Given the description of an element on the screen output the (x, y) to click on. 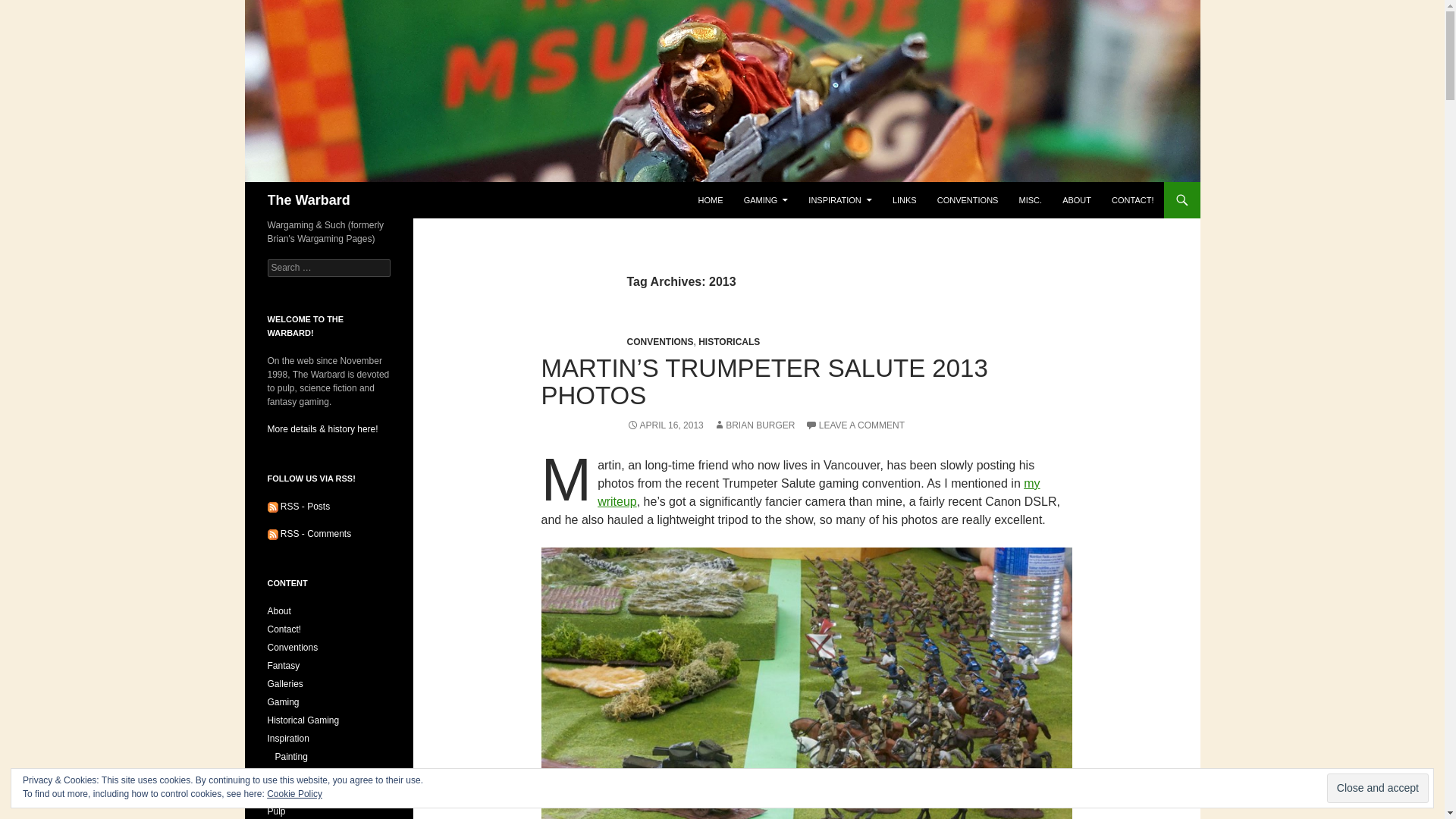
BRIAN BURGER (753, 425)
The Warbard (307, 199)
CONVENTIONS (659, 341)
ABOUT (1076, 199)
LEAVE A COMMENT (854, 425)
CONVENTIONS (967, 199)
APRIL 16, 2013 (664, 425)
HOME (710, 199)
CONTACT! (1131, 199)
my writeup (817, 491)
MISC. (1030, 199)
HISTORICALS (729, 341)
INSPIRATION (839, 199)
Close and accept (1377, 788)
